Given the description of an element on the screen output the (x, y) to click on. 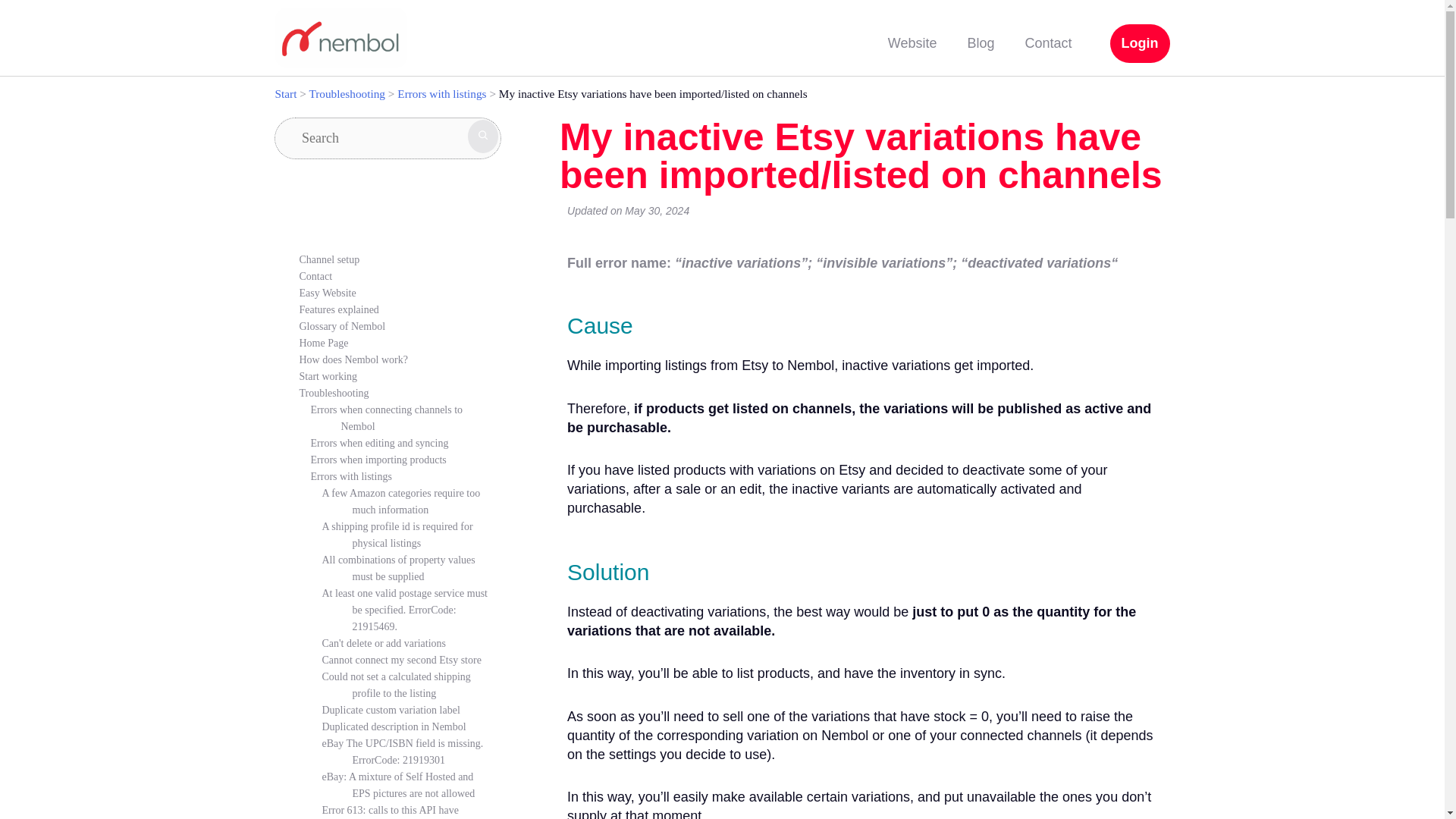
Contact (314, 276)
Login (1139, 43)
Easy Website (326, 292)
Blog (980, 43)
Features explained (338, 309)
Contact (1047, 43)
Start (286, 92)
Errors with listings (441, 92)
Website (912, 43)
Troubleshooting (346, 92)
Channel setup (328, 259)
